Given the description of an element on the screen output the (x, y) to click on. 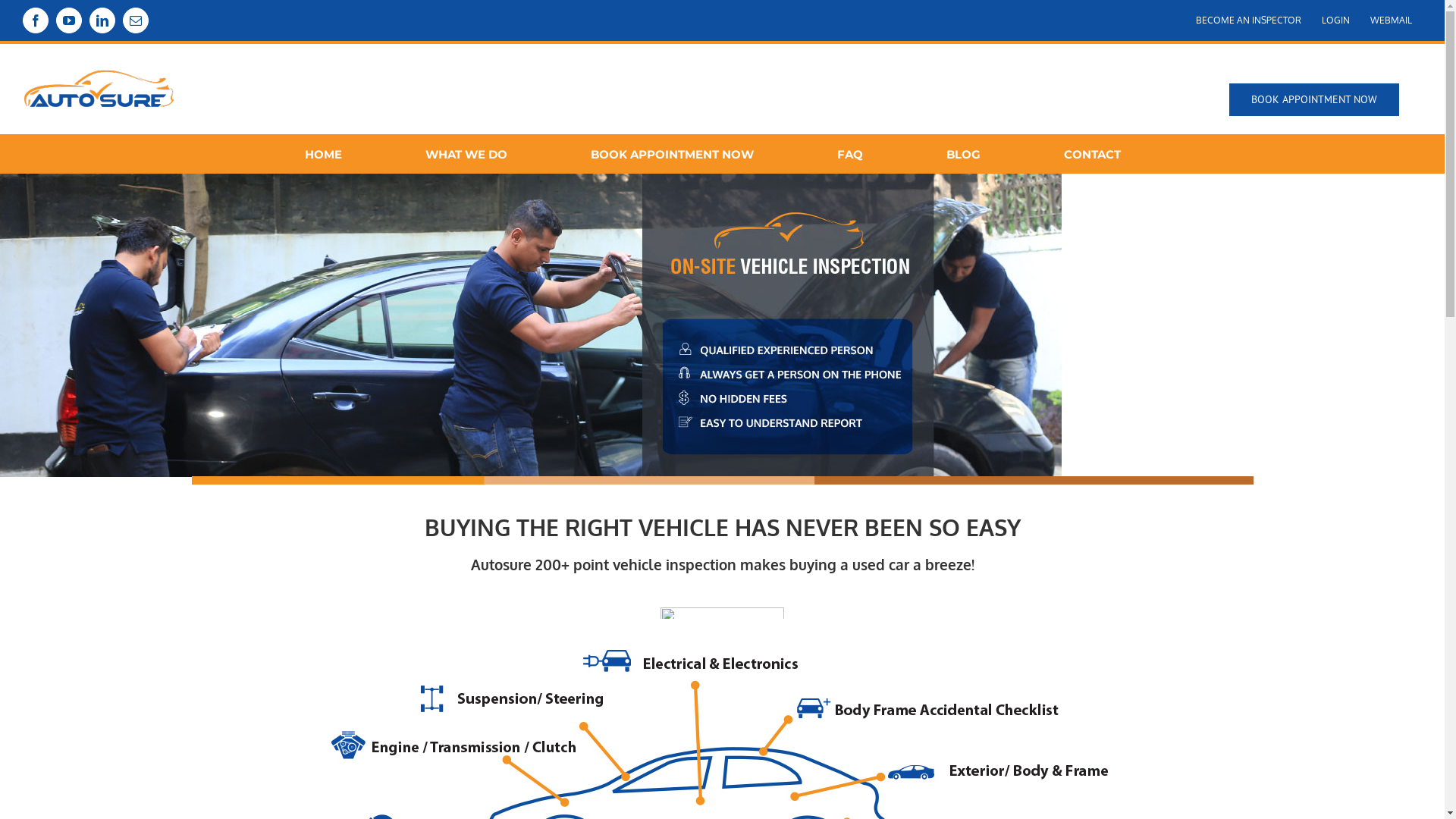
LOGIN Element type: text (1335, 20)
BOOK APPOINTMENT NOW Element type: text (1314, 99)
BLOG Element type: text (963, 153)
Facebook Element type: text (35, 20)
WHAT WE DO Element type: text (465, 153)
HOME Element type: text (323, 153)
FAQ Element type: text (850, 153)
WEBMAIL Element type: text (1390, 20)
Slide-Divider Element type: hover (721, 480)
LinkedIn Element type: text (102, 20)
YouTube Element type: text (68, 20)
BECOME AN INSPECTOR Element type: text (1248, 20)
Border-line Element type: hover (722, 612)
CONTACT Element type: text (1091, 153)
BOOK APPOINTMENT NOW Element type: text (671, 153)
Banner-FInal Element type: hover (530, 324)
Email Element type: text (135, 20)
